Given the description of an element on the screen output the (x, y) to click on. 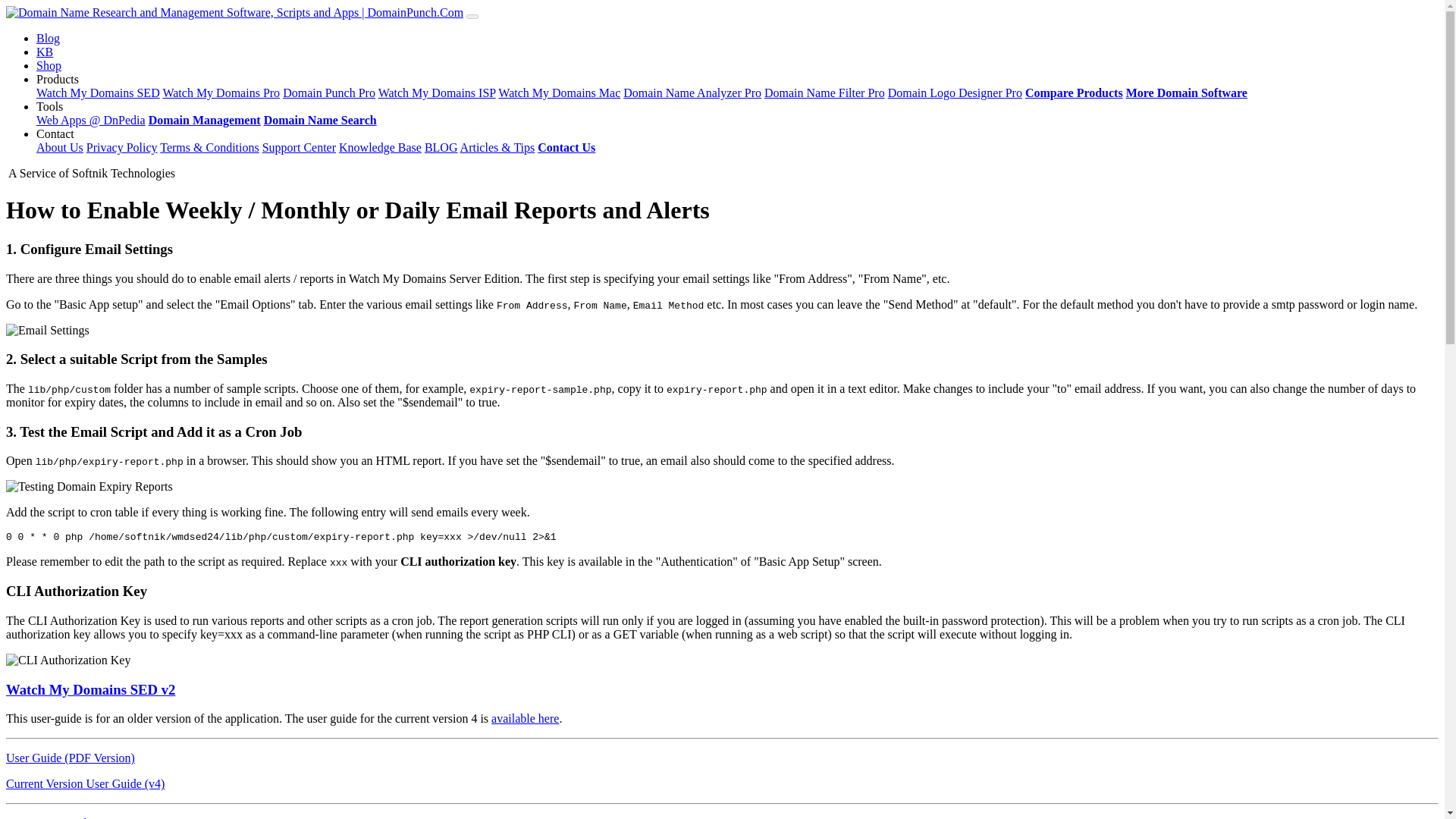
Blog (47, 38)
Domain Name Filter Pro (824, 92)
About Us (59, 146)
Watch My Domains Pro (220, 92)
Domain Name Analyzer Pro (692, 92)
KB (44, 51)
Domain Punch Pro (328, 92)
Privacy Policy (121, 146)
Knowledge Base (380, 146)
Contact Us (566, 146)
